Given the description of an element on the screen output the (x, y) to click on. 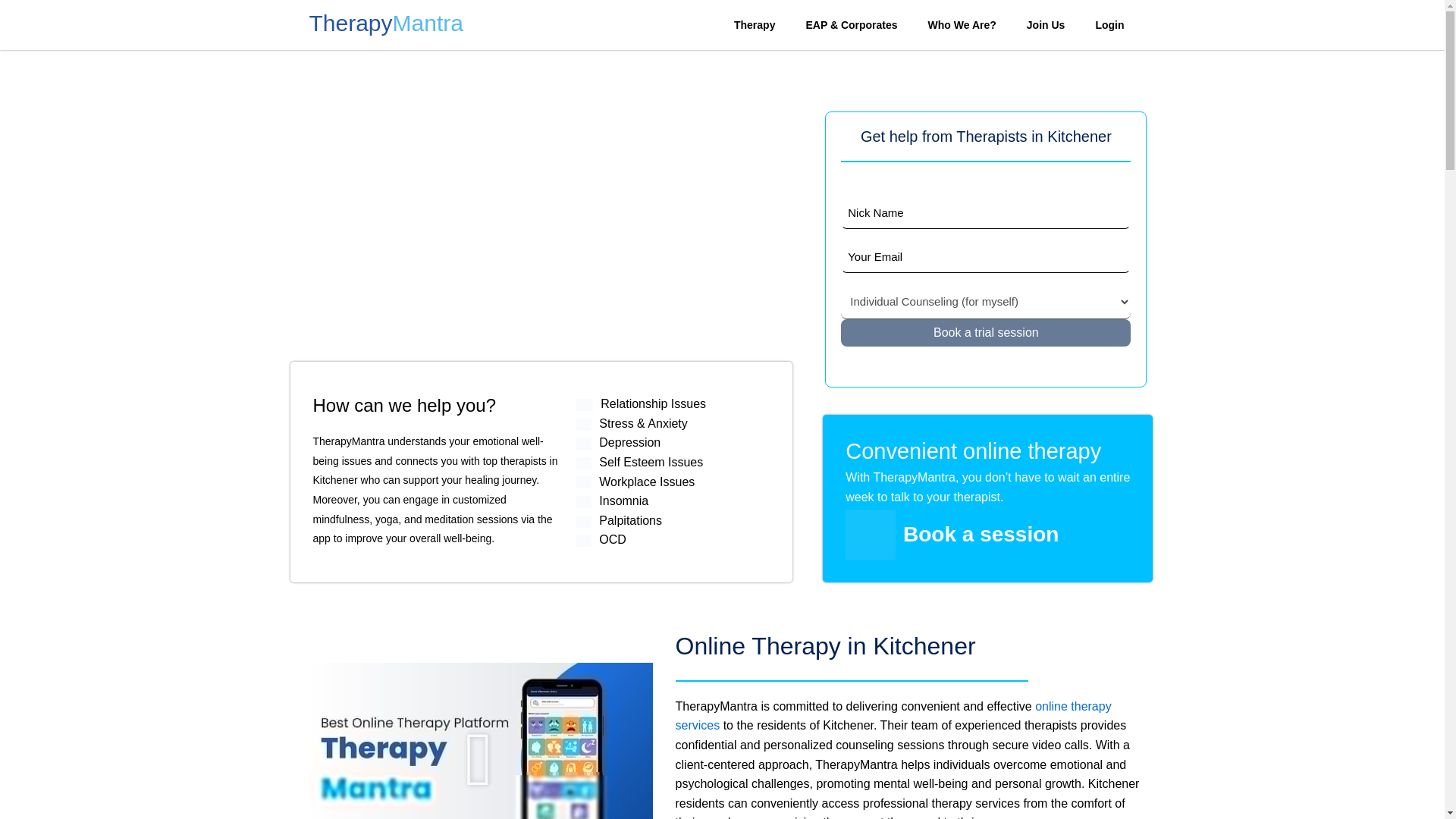
Therapy (754, 24)
Book a trial session (986, 332)
Login (1109, 24)
Who We Are? (961, 24)
online therapy services (893, 716)
TherapyMantra (383, 26)
Join Us (1045, 24)
